Given the description of an element on the screen output the (x, y) to click on. 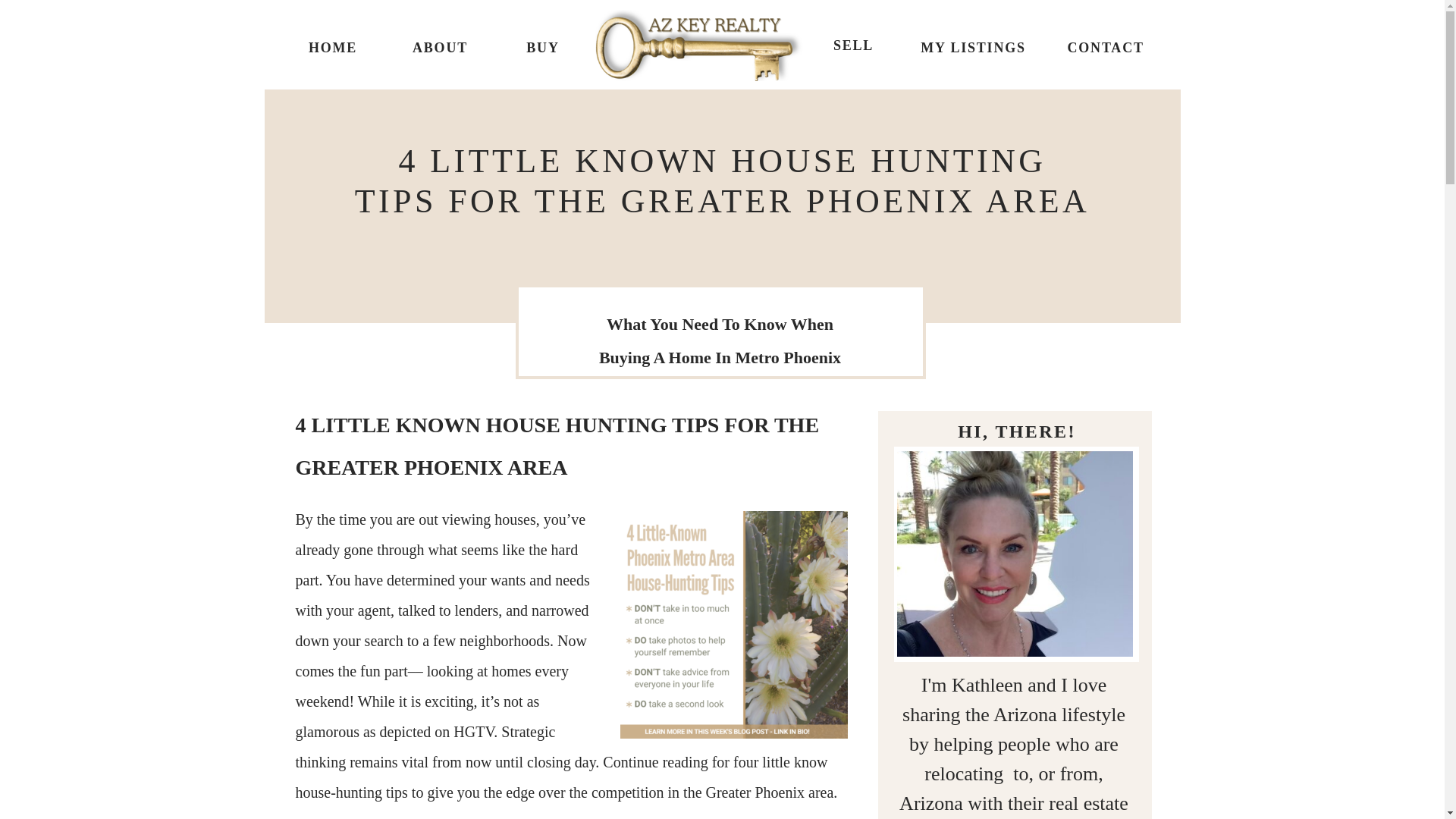
HOME (331, 45)
ABOUT (439, 45)
SELL (853, 45)
MY LISTINGS (972, 45)
BUY (542, 45)
CONTACT (1103, 45)
What You Need To Know When Buying A Home In Metro Phoenix (719, 340)
